Given the description of an element on the screen output the (x, y) to click on. 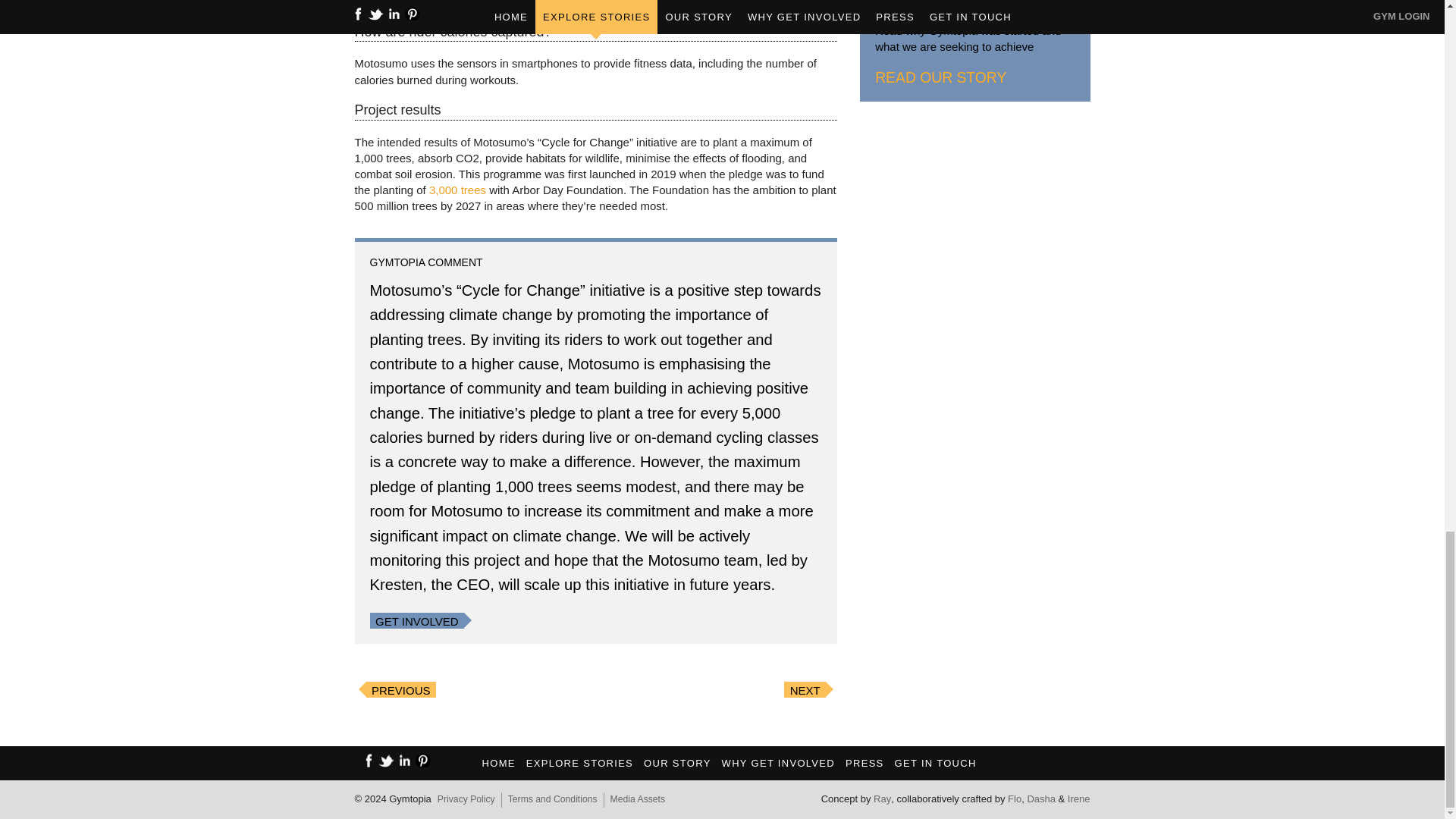
PREVIOUS (400, 689)
dashaluna, WordPress developer Brighton, UK (1040, 798)
GET INVOLVED (416, 621)
Follow Gymtopia on Twitter (386, 759)
Follow Gymtopia on Linkedin (404, 759)
Follow Gymtopia on Facebook (368, 759)
3,000 trees (457, 189)
Follow Gymtopia on Pinterest (422, 759)
Irene Soler, web designer Brighton, UK (1078, 798)
